Given the description of an element on the screen output the (x, y) to click on. 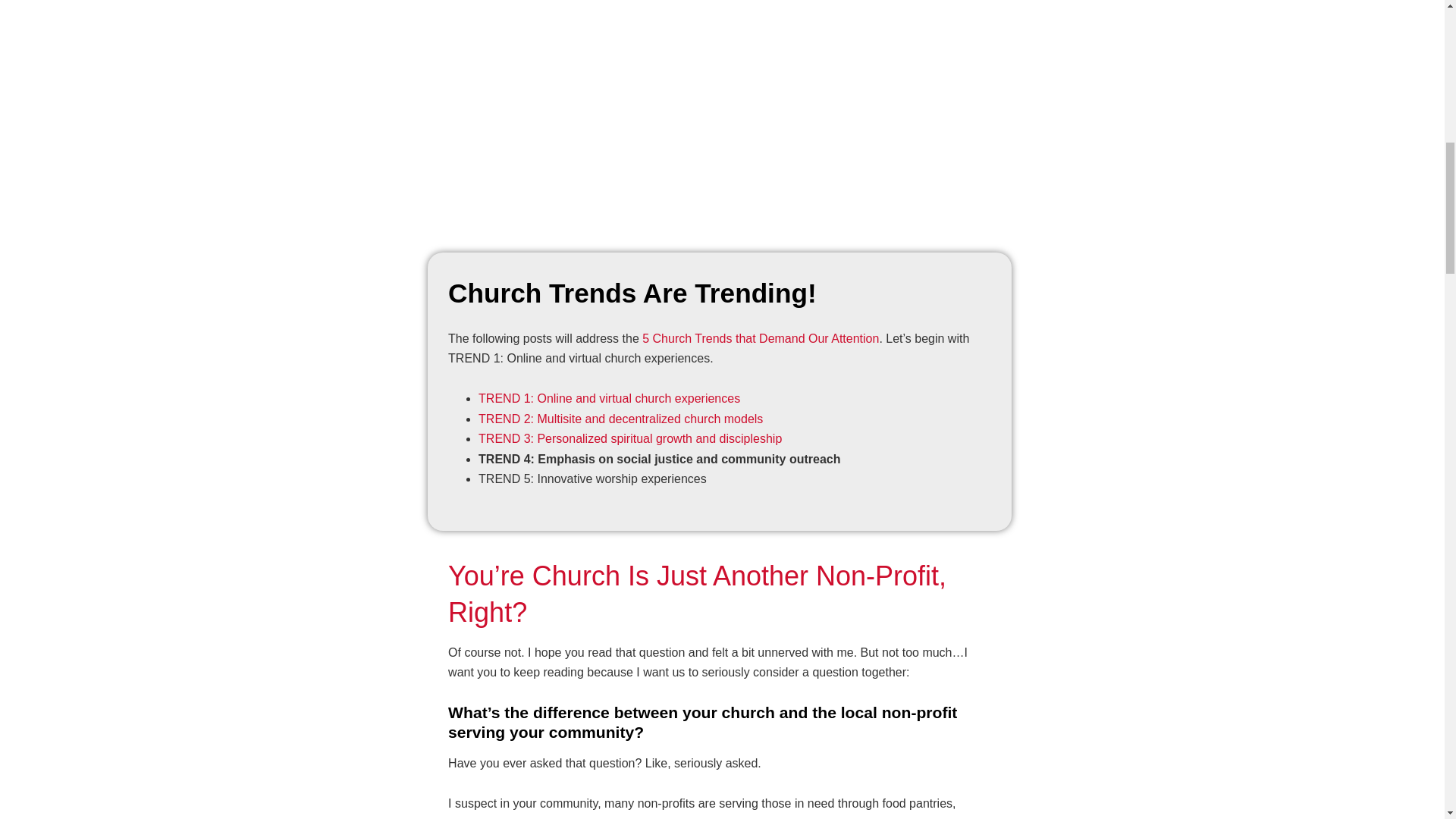
5 Church Trends that Demand Our Attention (760, 338)
TREND 2: Multisite and decentralized church models (620, 418)
TREND 1: Online and virtual church experiences (609, 398)
TREND 3: Personalized spiritual growth and discipleship (630, 438)
